Given the description of an element on the screen output the (x, y) to click on. 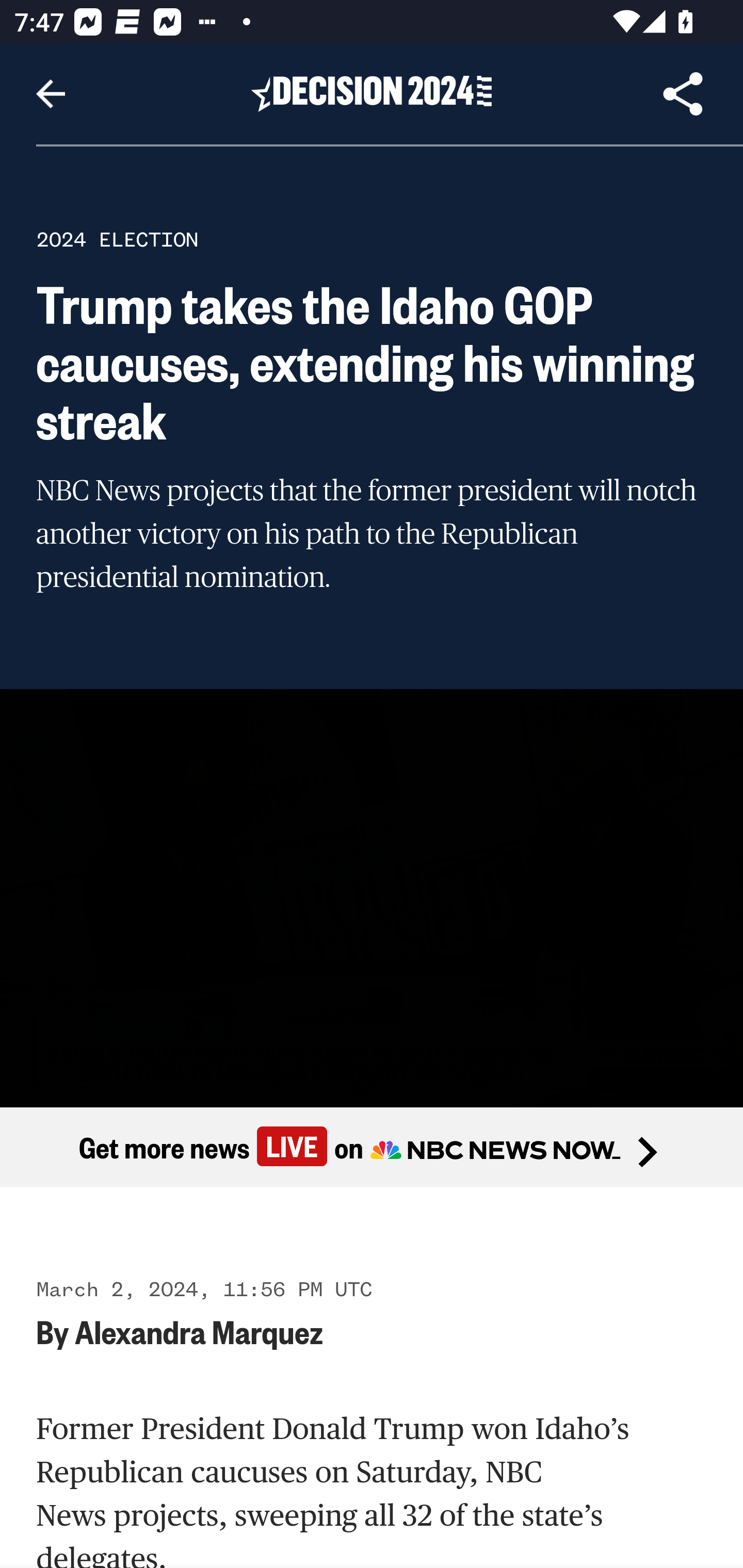
Navigate up (50, 93)
Share Article, button (683, 94)
Header, Decision 2024 (371, 93)
2024 ELECTION (117, 239)
Get more news Live on Get more news Live on (371, 1147)
